Given the description of an element on the screen output the (x, y) to click on. 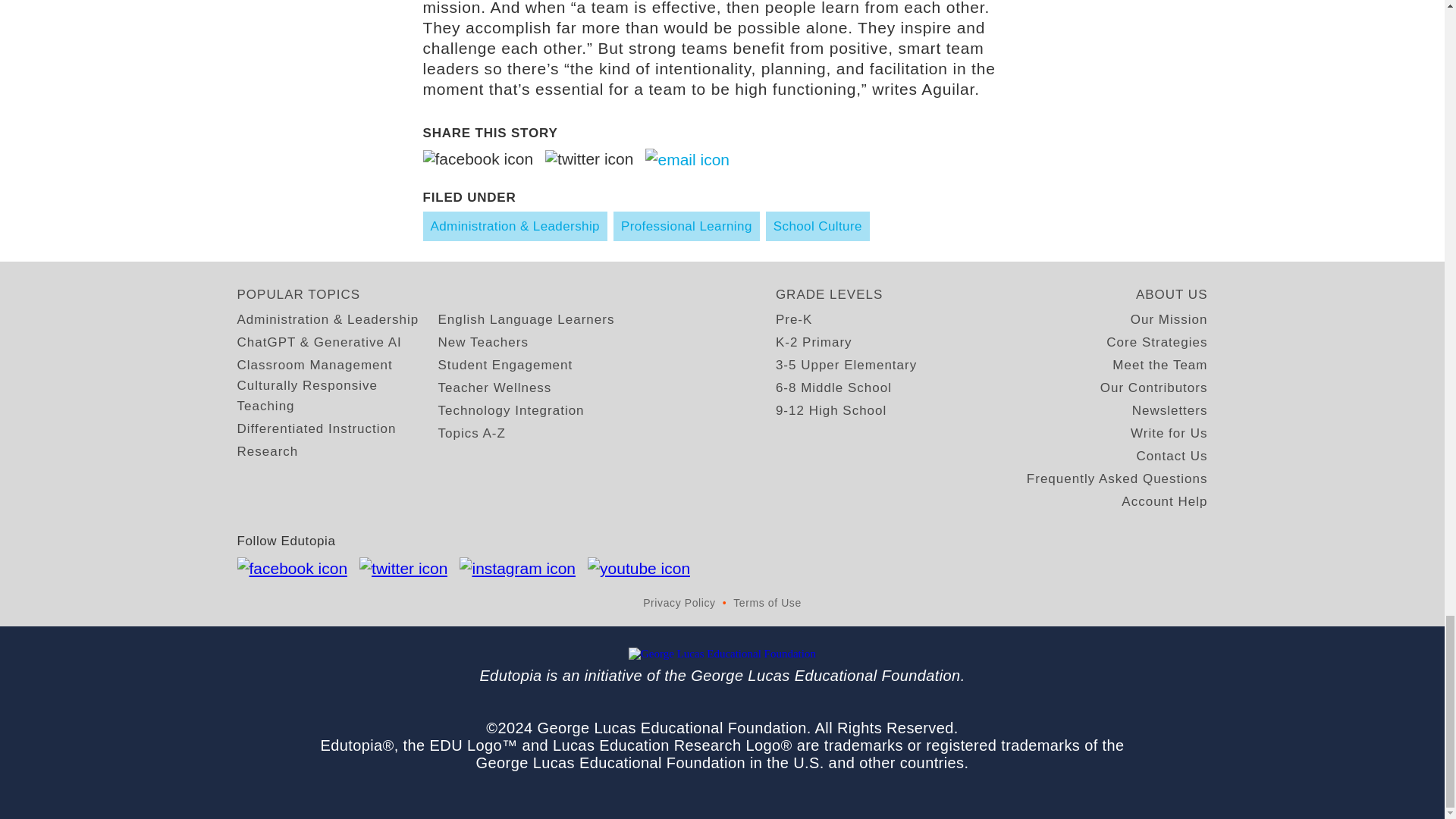
School Culture (817, 225)
English Language Learners (526, 319)
Professional Learning (686, 225)
Culturally Responsive Teaching (336, 395)
Research (266, 451)
Classroom Management (313, 364)
Differentiated Instruction (315, 428)
